Given the description of an element on the screen output the (x, y) to click on. 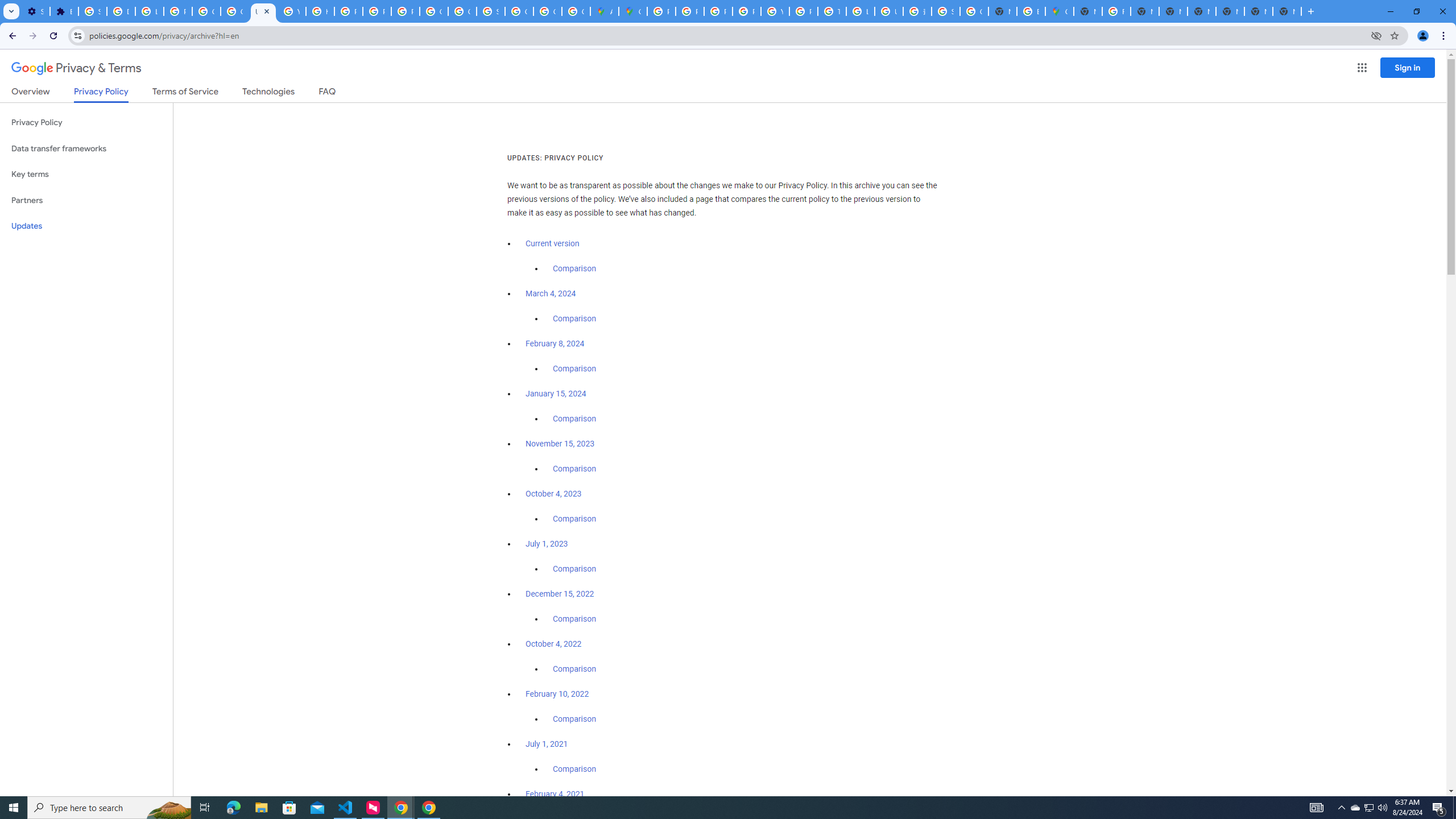
October 4, 2023 (553, 493)
Explore new street-level details - Google Maps Help (1030, 11)
Tips & tricks for Chrome - Google Chrome Help (831, 11)
February 8, 2024 (555, 343)
February 10, 2022 (557, 693)
https://scholar.google.com/ (320, 11)
